Given the description of an element on the screen output the (x, y) to click on. 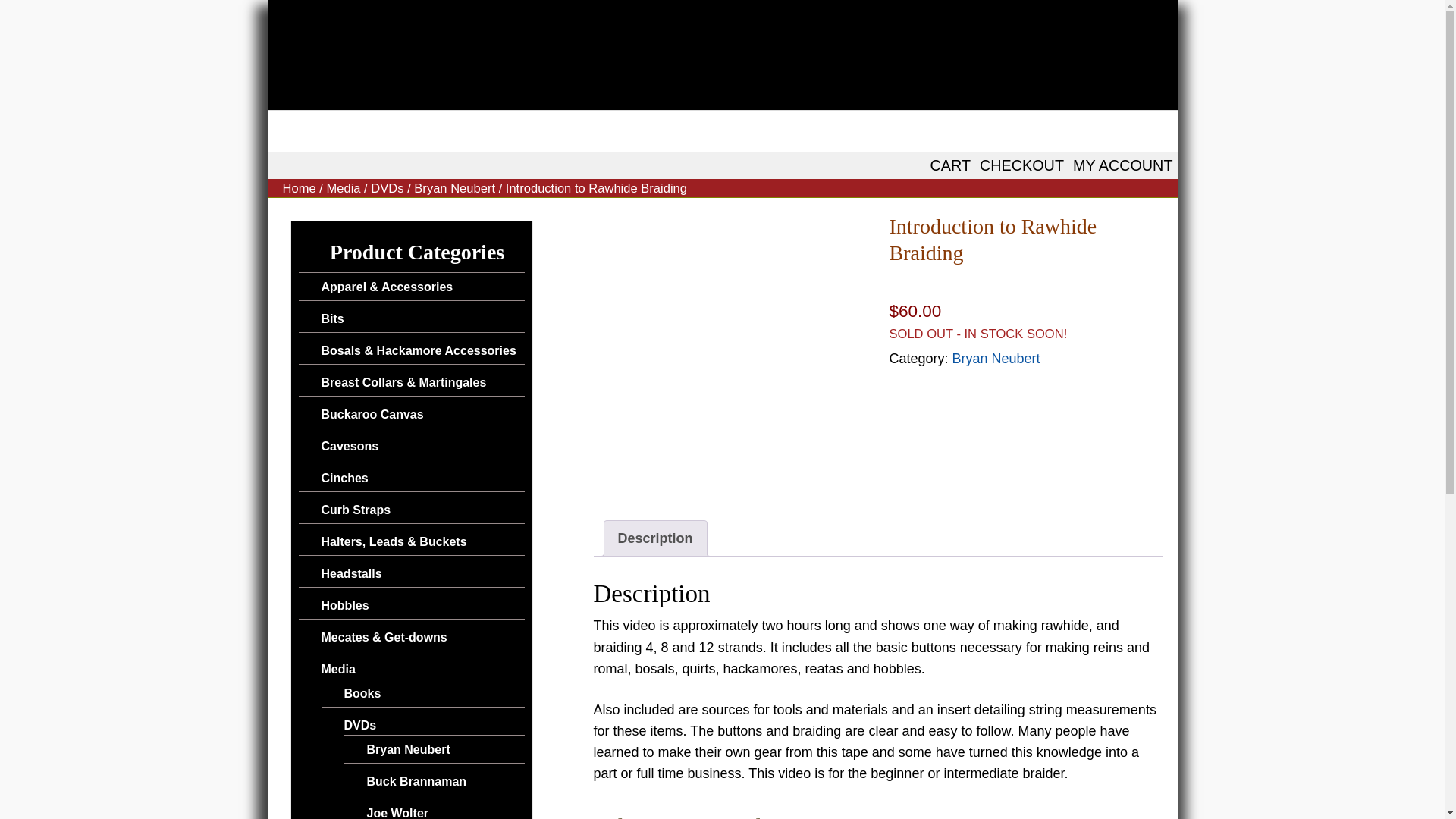
Hobbles (345, 604)
CHECKOUT (1021, 165)
Headstalls (351, 573)
Description (655, 538)
CONTACT (721, 129)
HOME (311, 129)
Bits (332, 318)
Home (298, 187)
SHOP (507, 129)
Buck Brannaman (416, 780)
Books (362, 693)
Joe Wolter (397, 812)
Bryan Neubert (454, 187)
Bryan Neubert (407, 748)
CLINICS (608, 129)
